Given the description of an element on the screen output the (x, y) to click on. 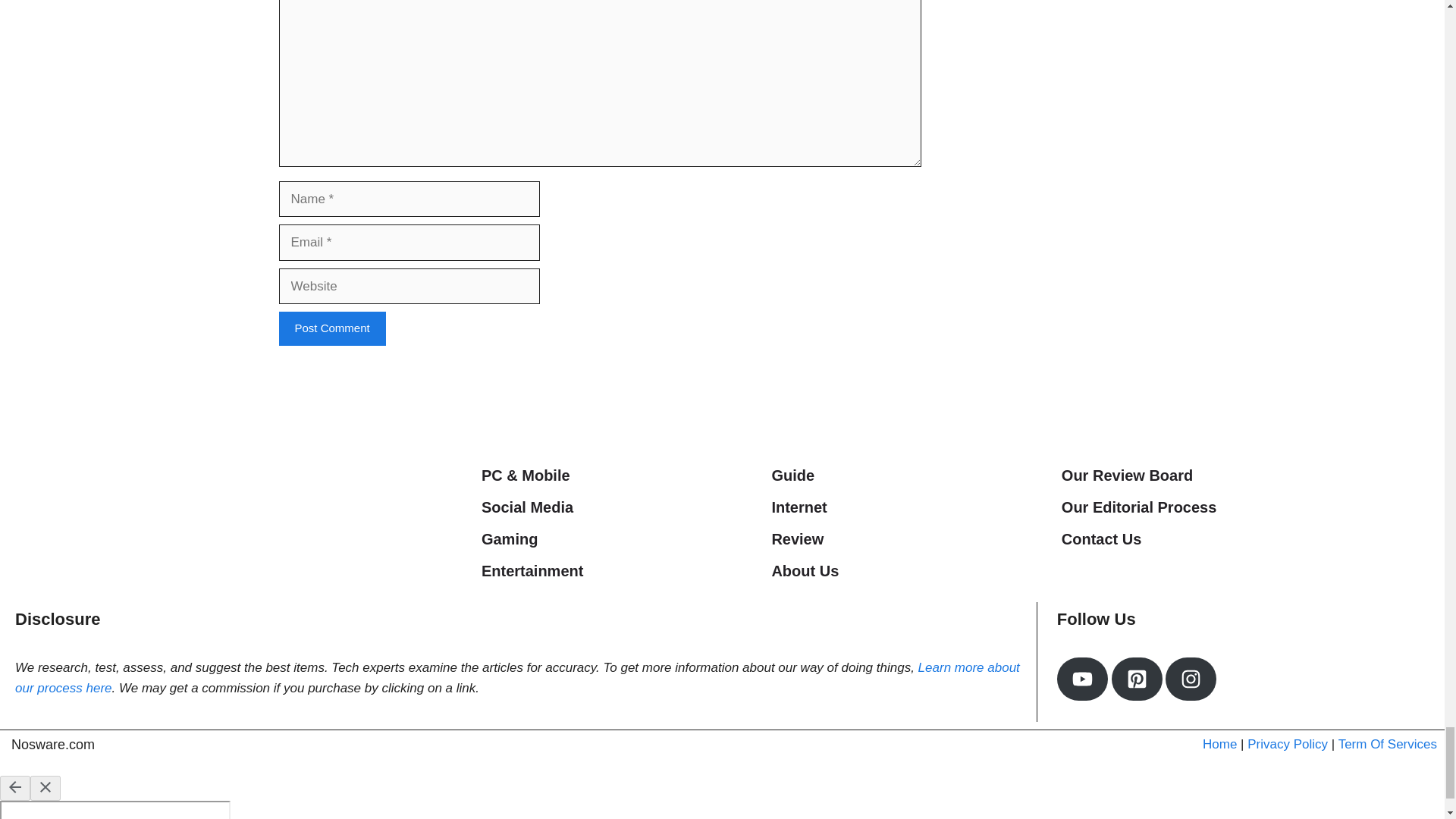
Post Comment (332, 328)
